Given the description of an element on the screen output the (x, y) to click on. 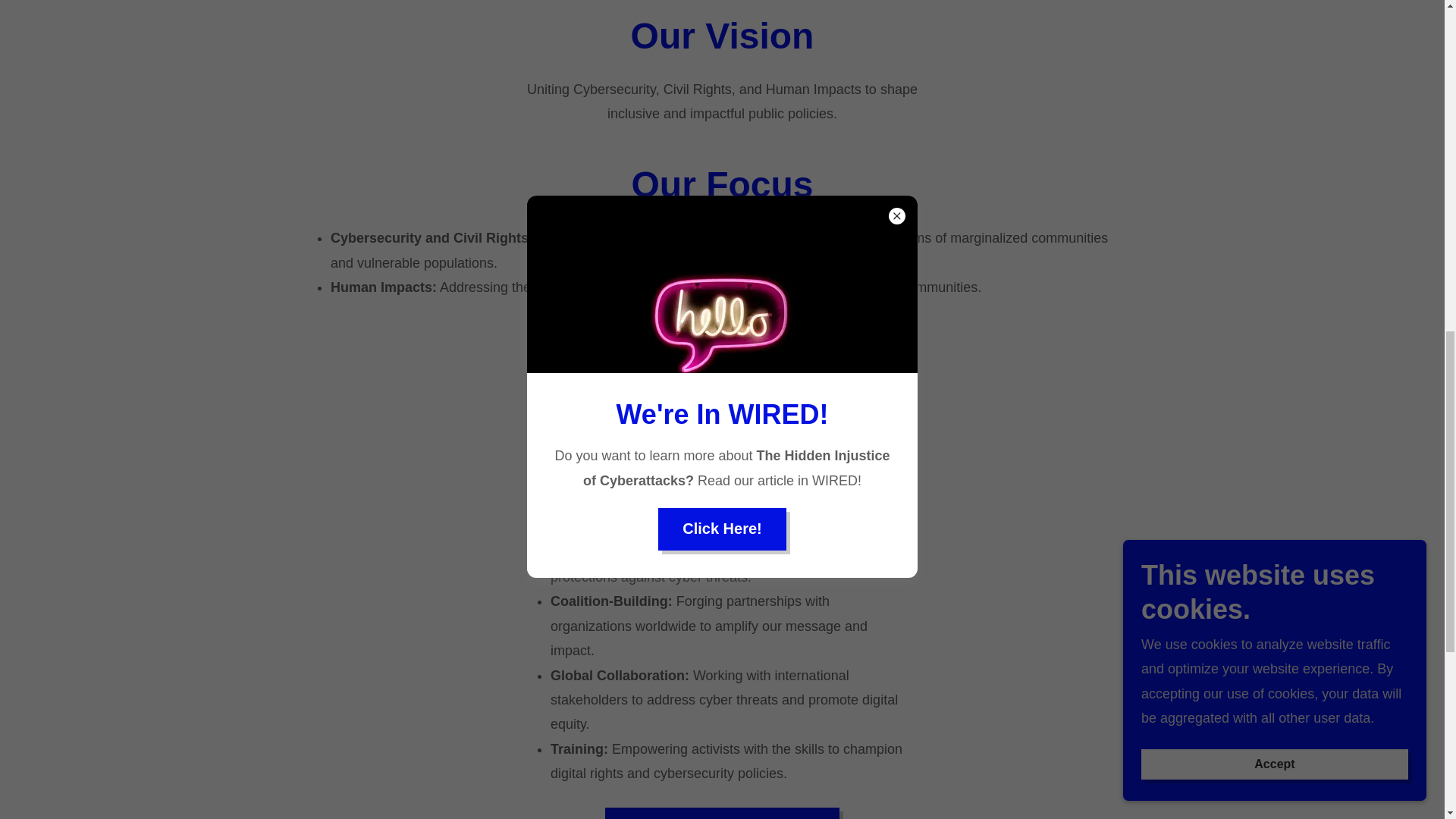
Interested to Learn More? (722, 813)
Read Our Article in WIRED (722, 342)
